Given the description of an element on the screen output the (x, y) to click on. 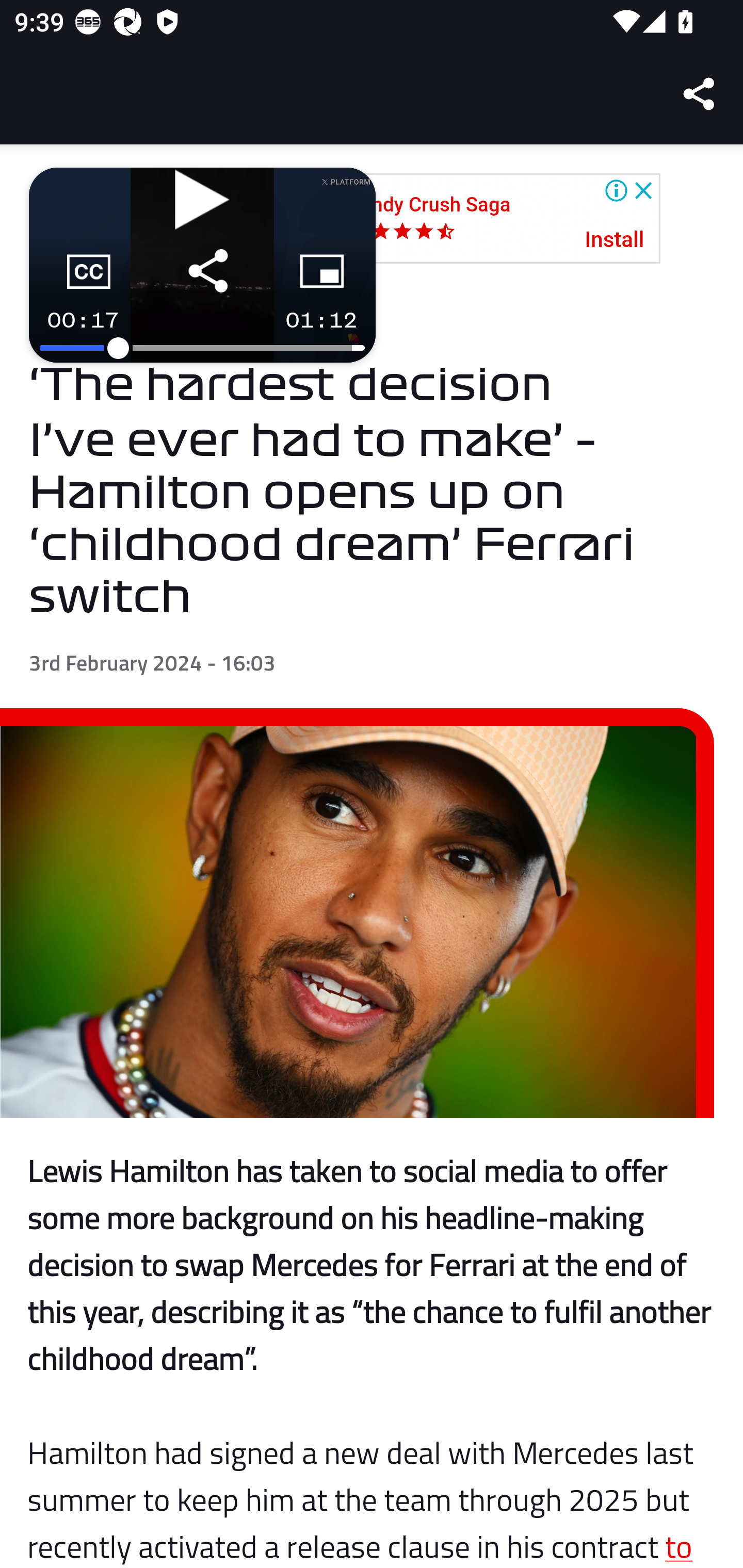
Share (699, 93)
Install (614, 240)
